Given the description of an element on the screen output the (x, y) to click on. 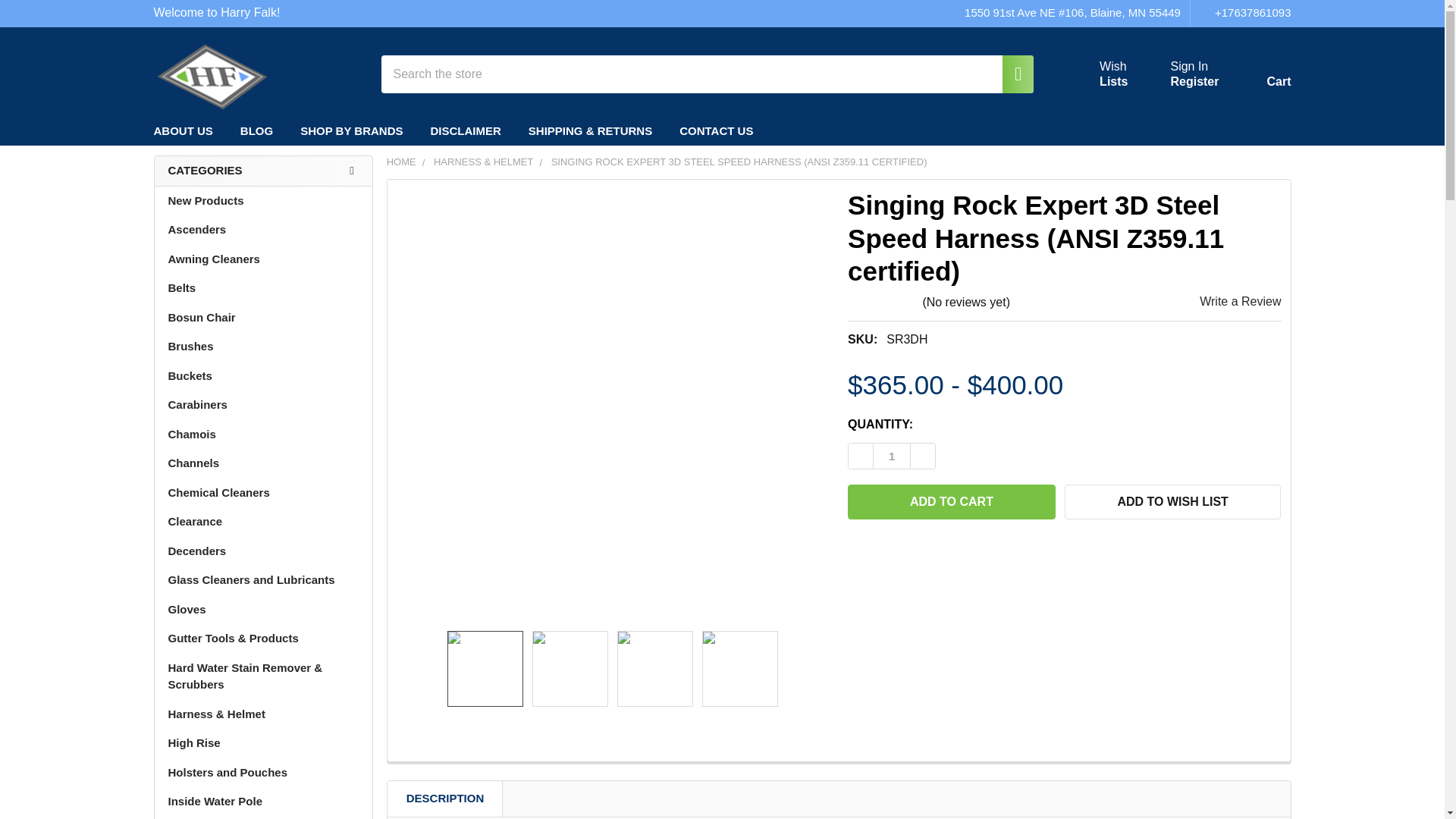
Cart (1260, 77)
Add to Cart (951, 501)
1 (891, 455)
Harry Falk (210, 74)
Search (1010, 74)
Cart (1260, 77)
Search (1010, 74)
Wish Lists (1095, 73)
Sign In (1095, 73)
